Given the description of an element on the screen output the (x, y) to click on. 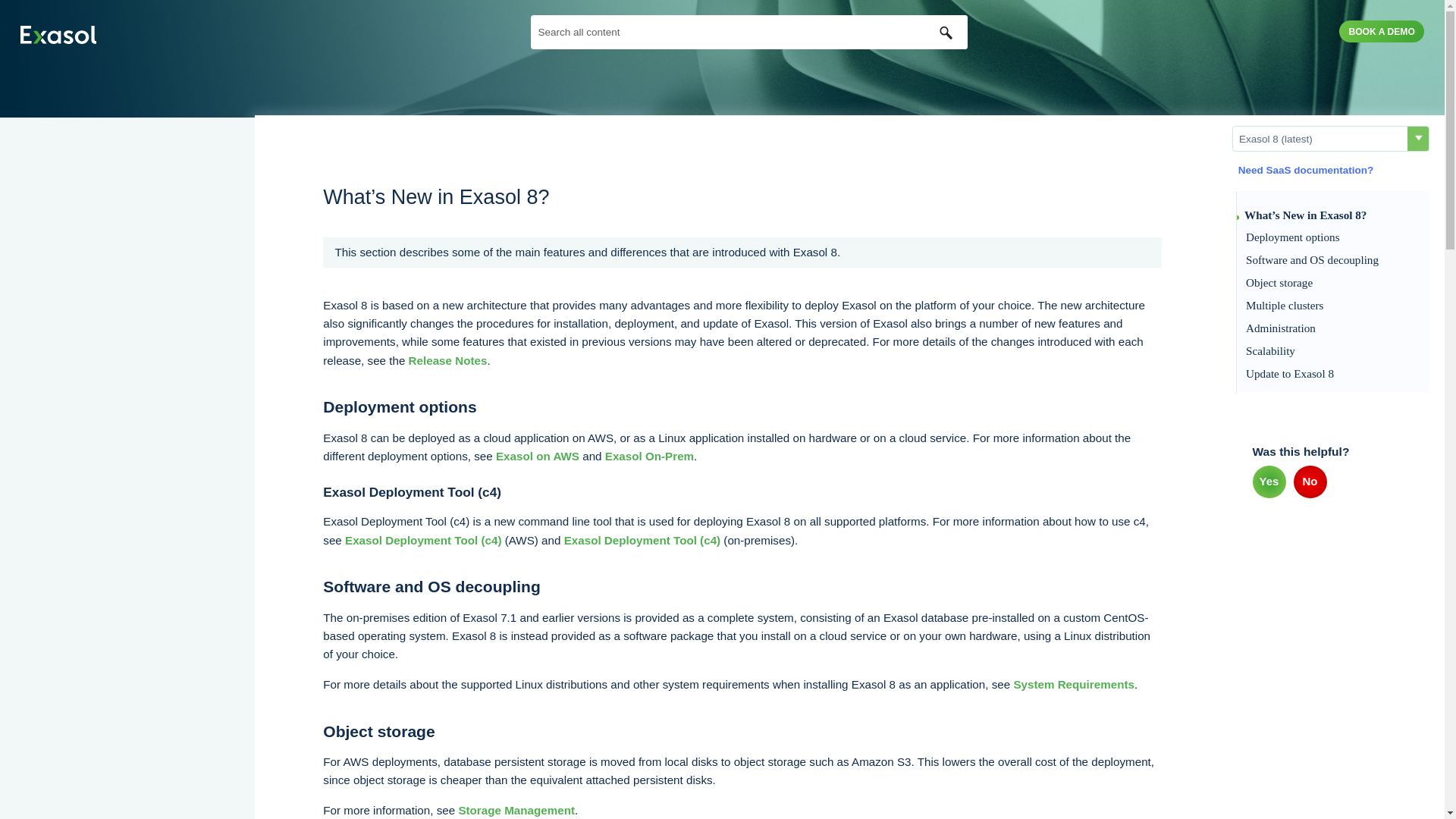
Search (946, 32)
BOOK A DEMO (1381, 31)
Need SaaS documentation? (1303, 170)
Exasol on AWS (537, 455)
System Requirements (1073, 684)
Software and OS decoupling (1333, 259)
Storage Management (516, 809)
Release Notes (448, 359)
Deployment options (1333, 237)
Exasol On-Prem (649, 455)
